Given the description of an element on the screen output the (x, y) to click on. 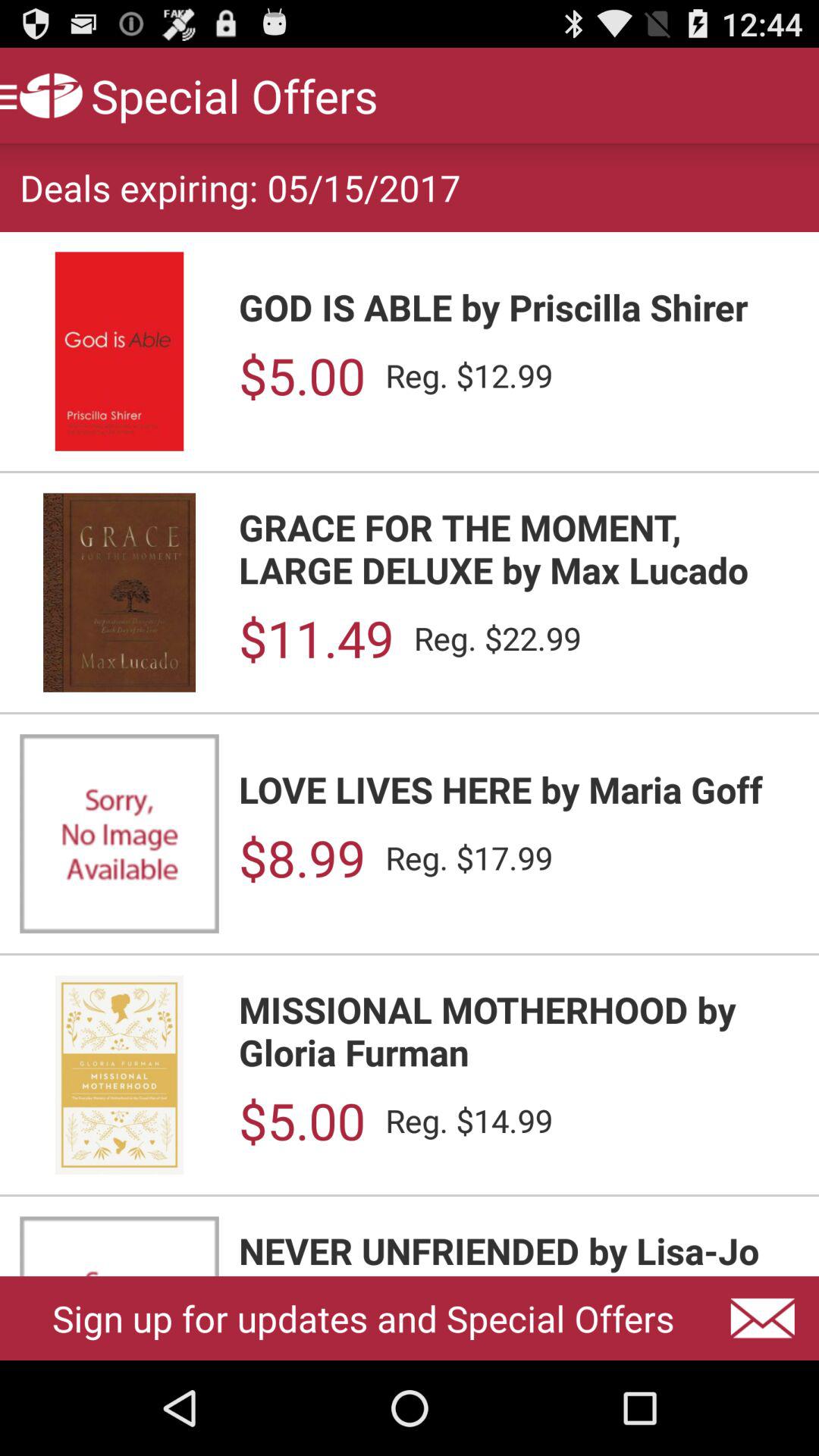
press the app above the $8.99 (518, 788)
